Given the description of an element on the screen output the (x, y) to click on. 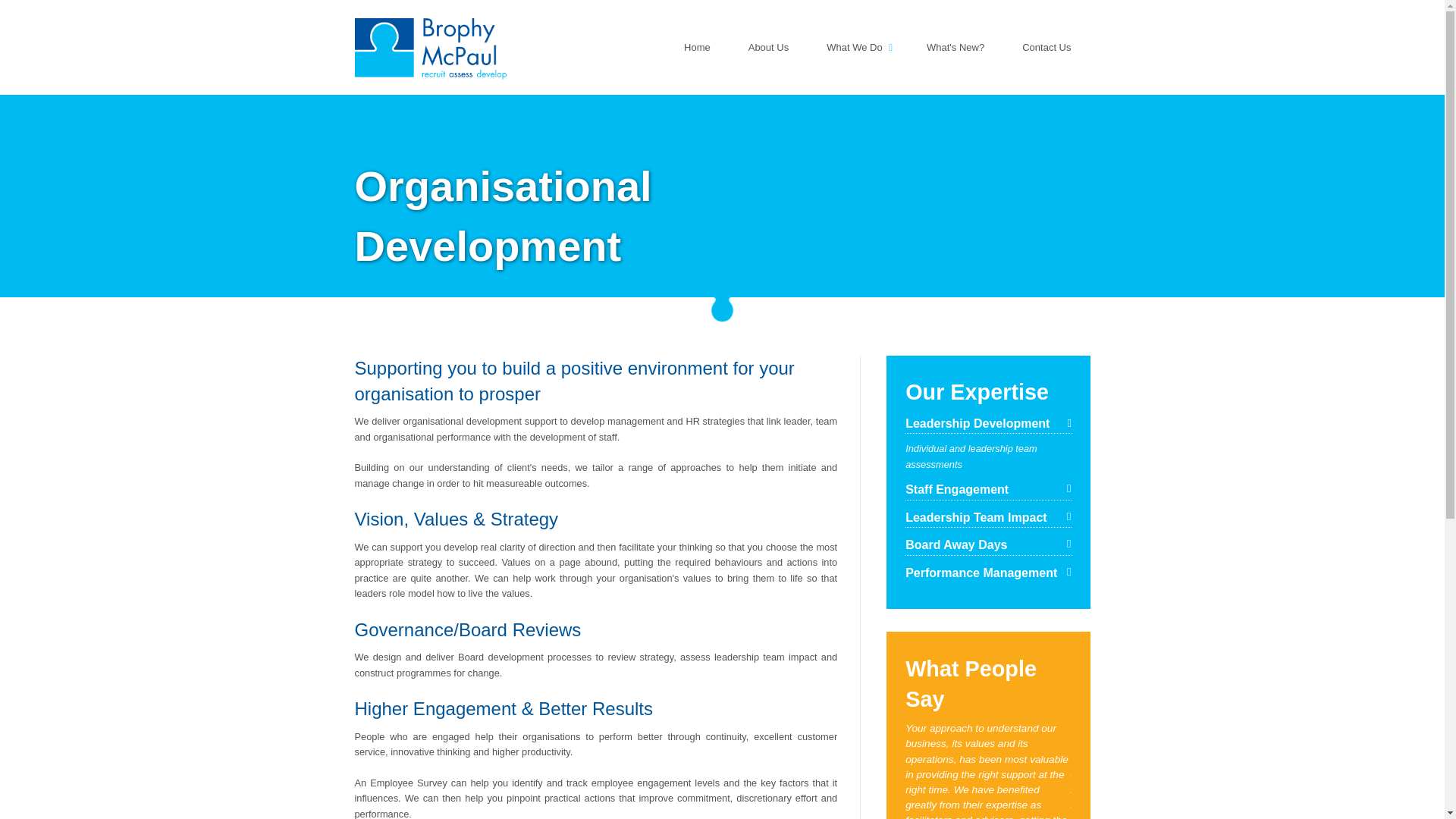
Leadership Development (987, 424)
Contact Us (1045, 47)
What's New? (955, 47)
About Us (767, 47)
Leadership Team Impact (987, 517)
Performance Management (987, 573)
Home (697, 47)
Brophy McPaul (430, 38)
Staff Engagement (987, 489)
Board Away Days (987, 545)
